Given the description of an element on the screen output the (x, y) to click on. 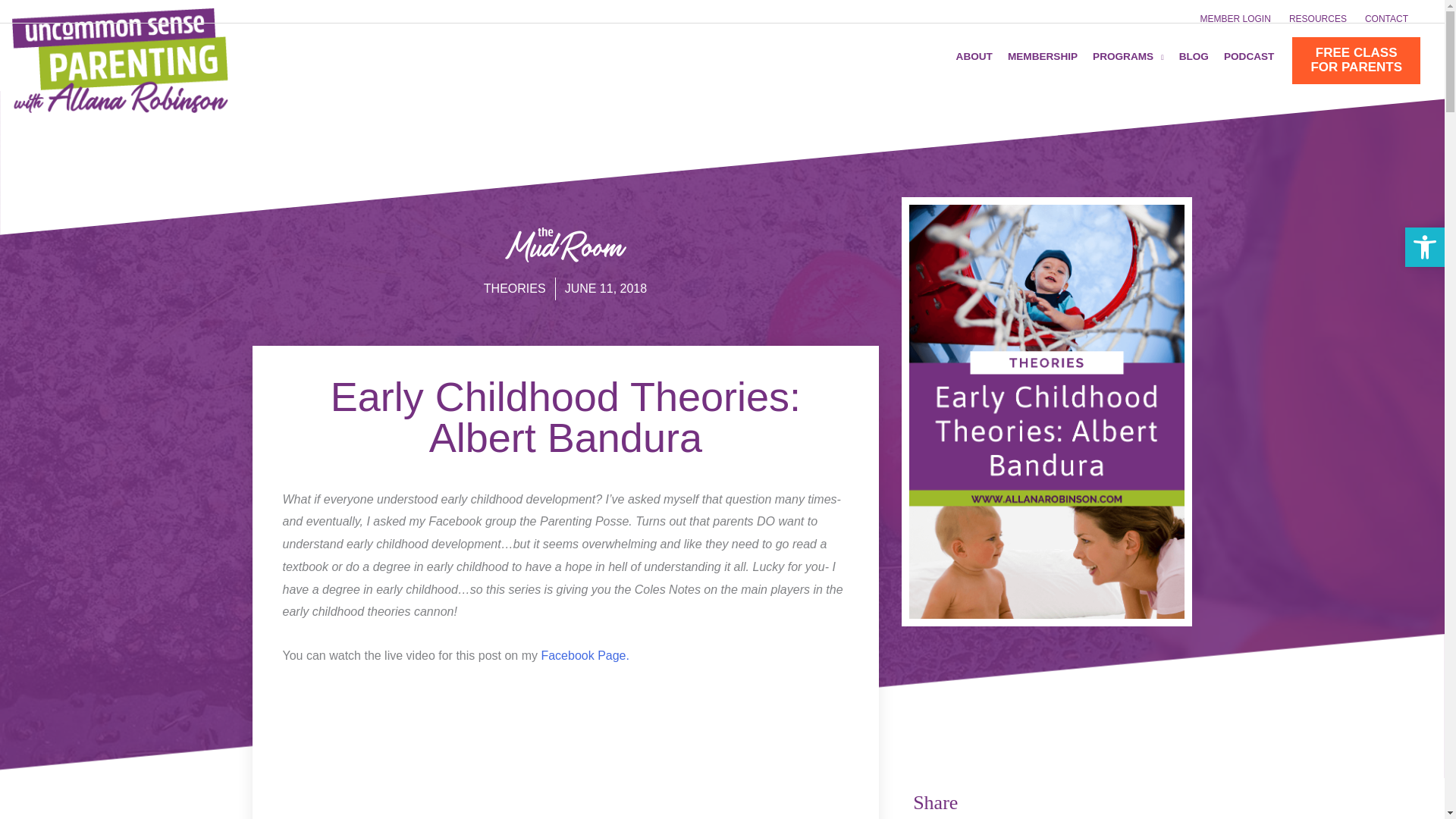
THEORIES (1356, 59)
CONTACT (514, 287)
RESOURCES (1381, 18)
JUNE 11, 2018 (1317, 18)
MEMBERSHIP (605, 288)
ABOUT (1034, 56)
BLOG (966, 56)
PROGRAMS (1185, 56)
MEMBER LOGIN (1120, 56)
PODCAST (1424, 246)
Accessibility Tools (1235, 18)
Accessibility Tools (1241, 56)
